Given the description of an element on the screen output the (x, y) to click on. 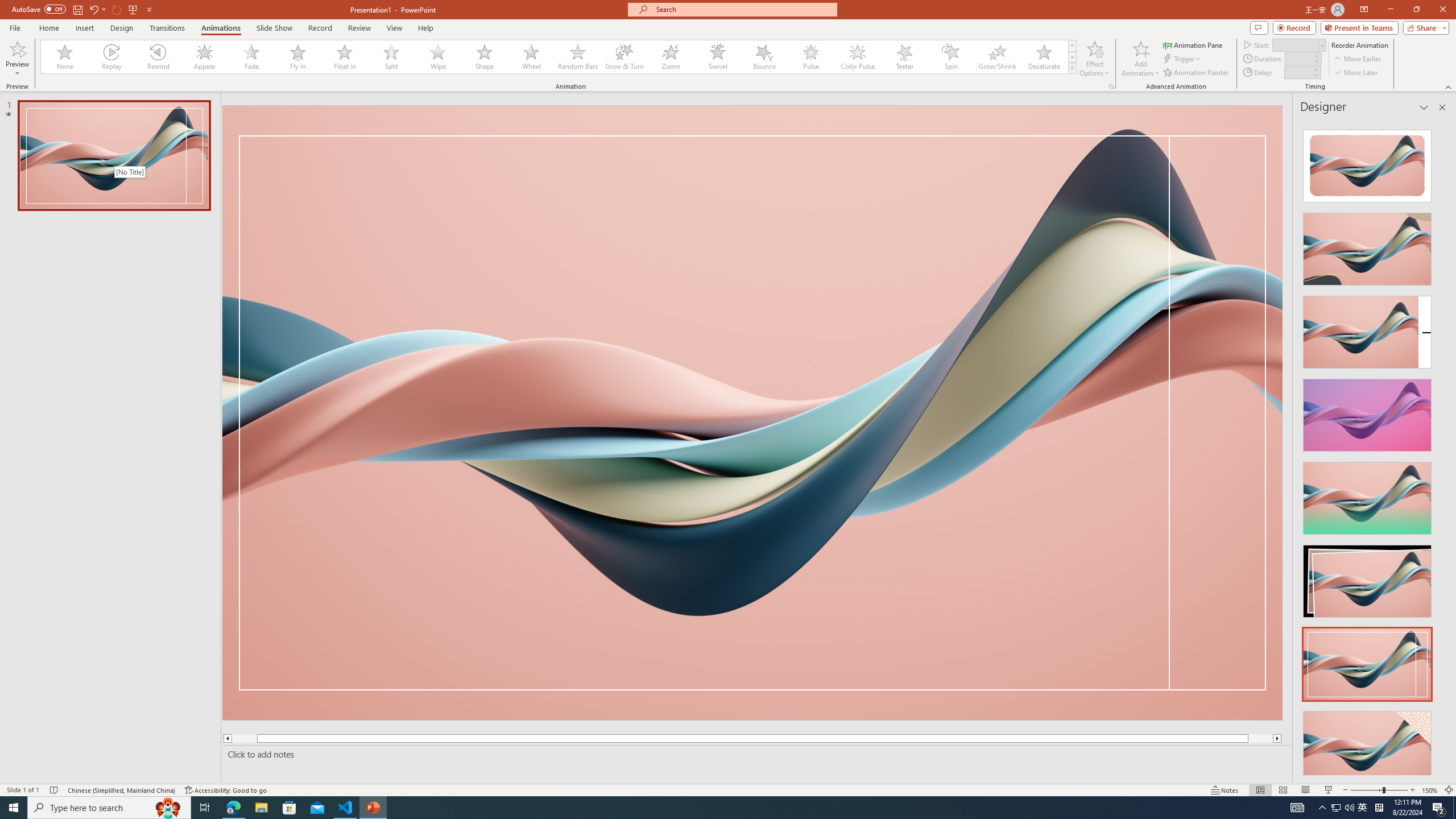
Spin (950, 56)
Animation Duration (1298, 58)
Move Later (1355, 72)
Split (391, 56)
Effect Options (1094, 58)
Pulse (810, 56)
Animation Pane (1193, 44)
Fly In (298, 56)
Replay (111, 56)
